Given the description of an element on the screen output the (x, y) to click on. 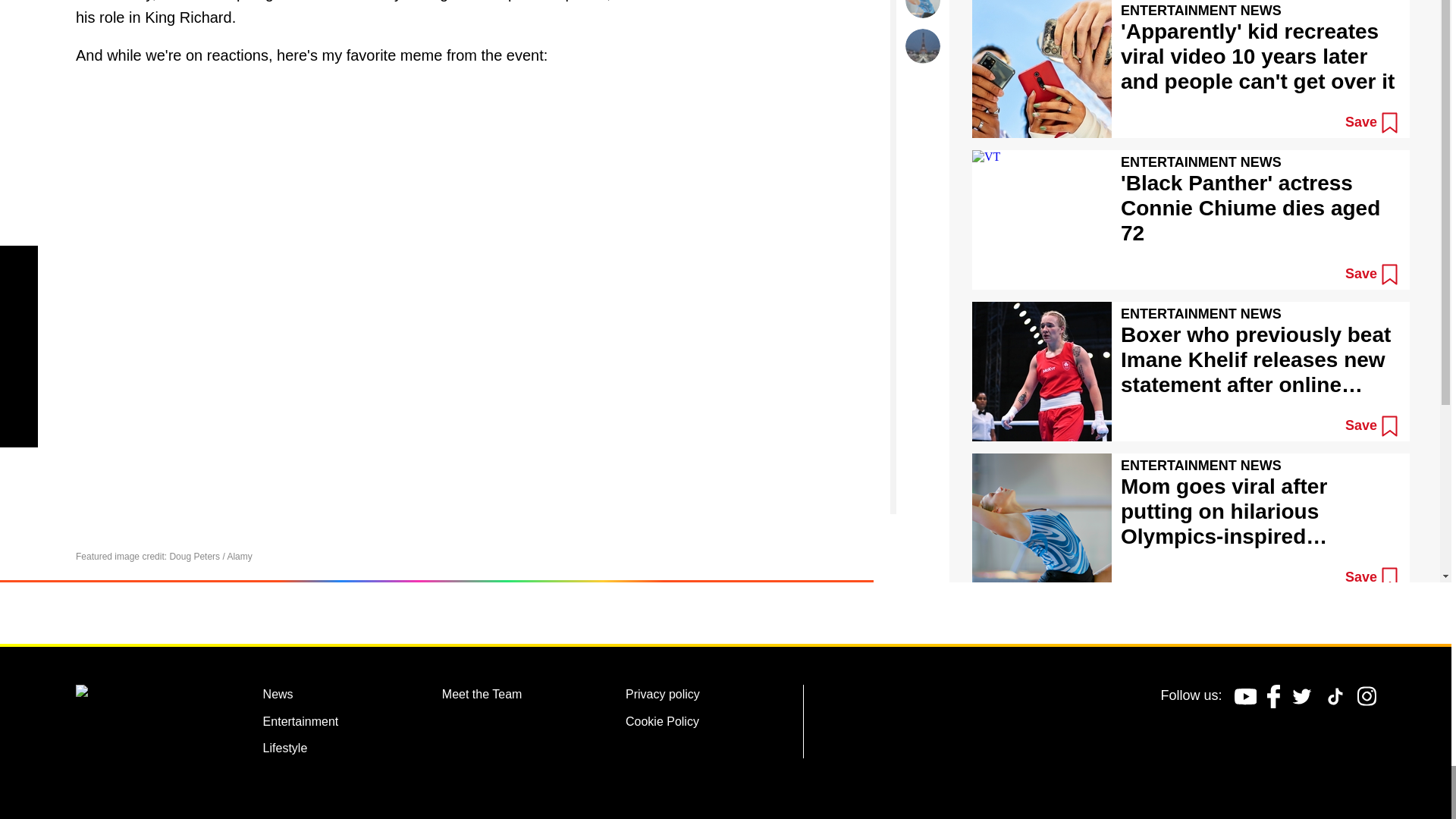
Entertainment (301, 723)
Lifestyle (285, 750)
Meet the Team (482, 696)
Cookie Policy (662, 723)
Privacy policy (663, 696)
News (278, 696)
